Given the description of an element on the screen output the (x, y) to click on. 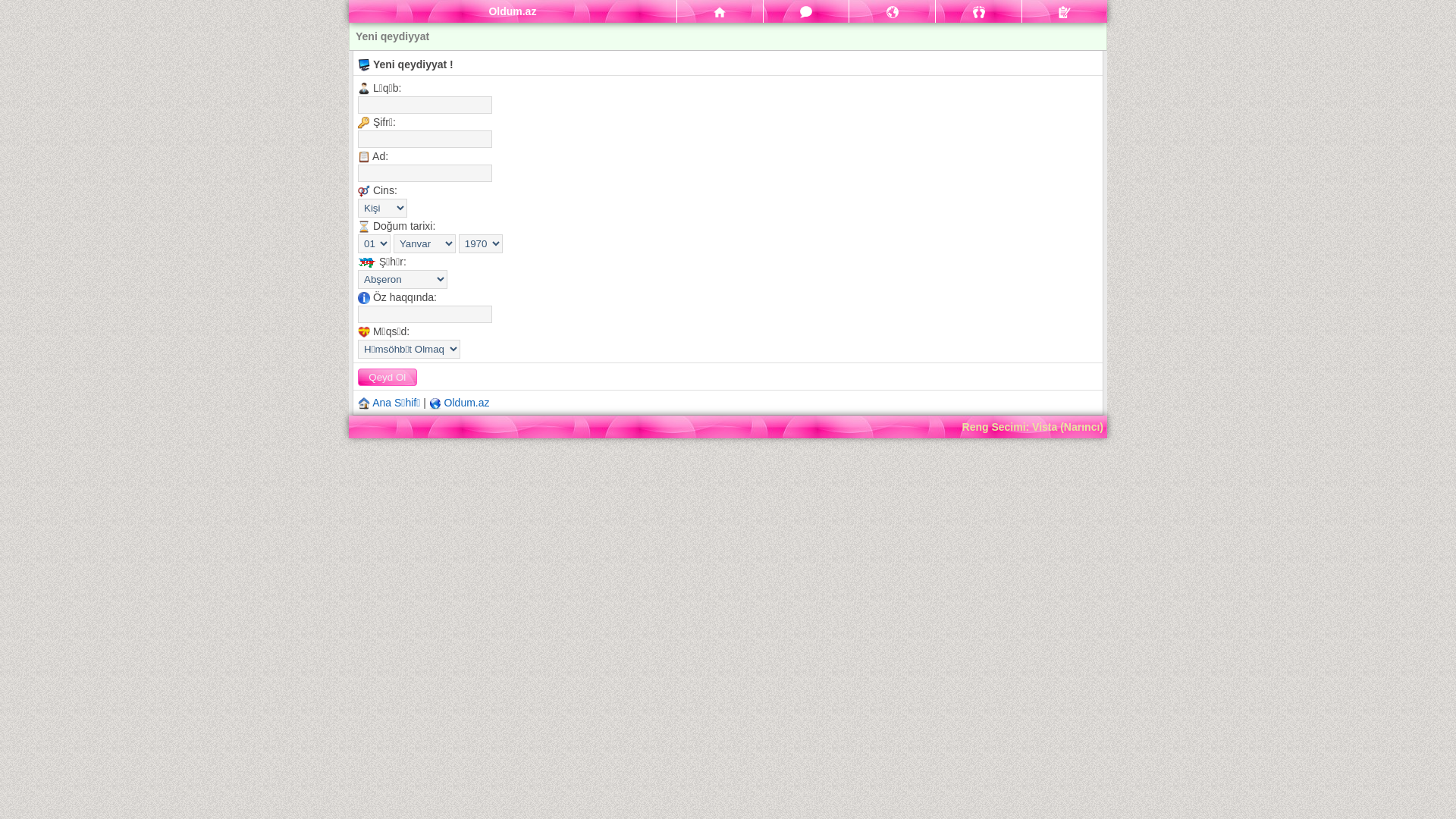
Qeydiyyat Element type: hover (1064, 11)
Oldum.az Element type: text (466, 402)
Qonaqlar Element type: hover (978, 11)
Mesajlar Element type: hover (806, 11)
Bildirisler Element type: hover (892, 11)
Qeyd Ol Element type: text (387, 376)
